Given the description of an element on the screen output the (x, y) to click on. 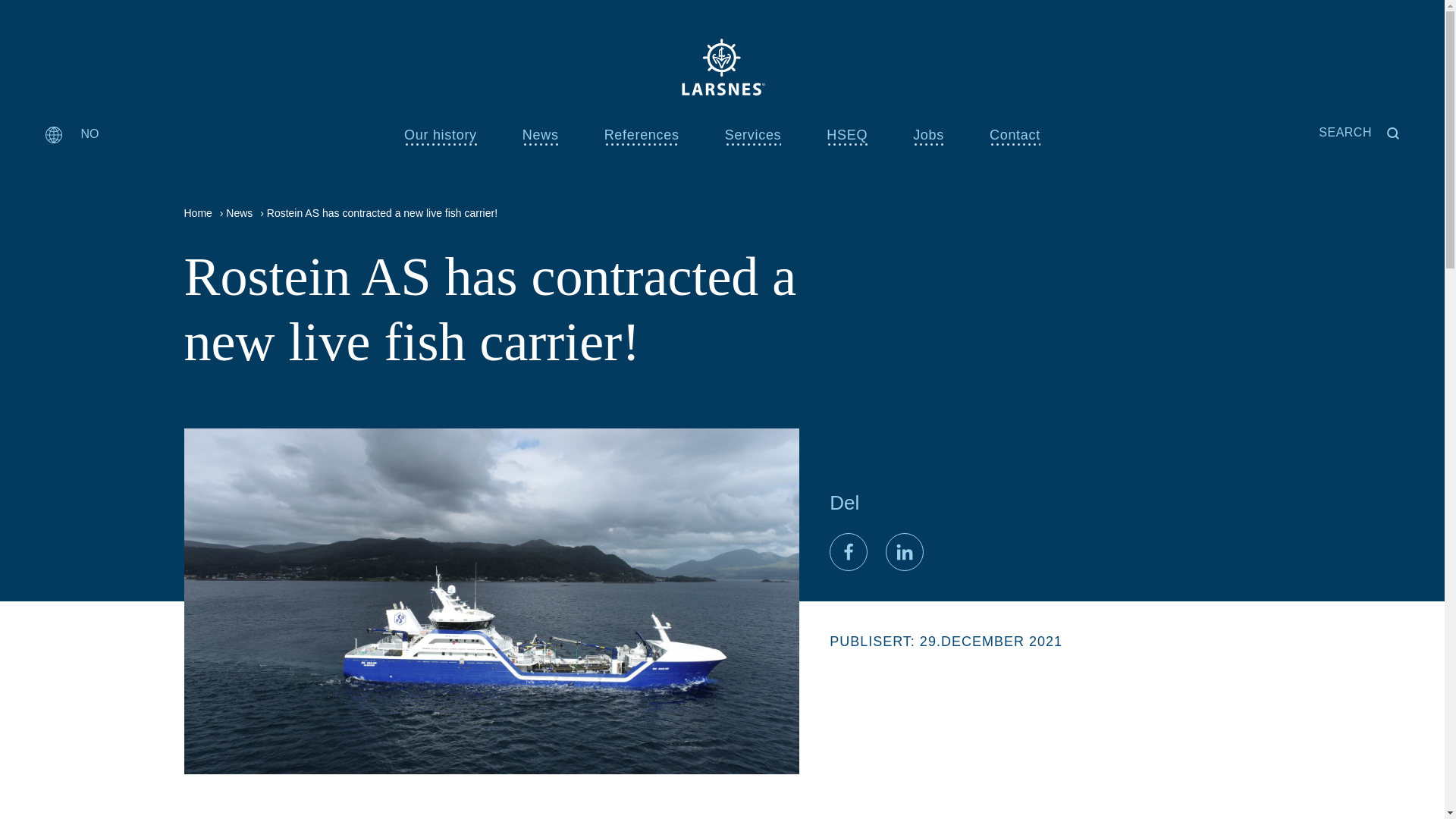
Services (753, 136)
References (641, 136)
HSEQ (847, 136)
Home (197, 213)
NO (72, 133)
News (540, 136)
Our history (440, 136)
Contact (1015, 136)
News (238, 213)
Jobs (927, 136)
